Given the description of an element on the screen output the (x, y) to click on. 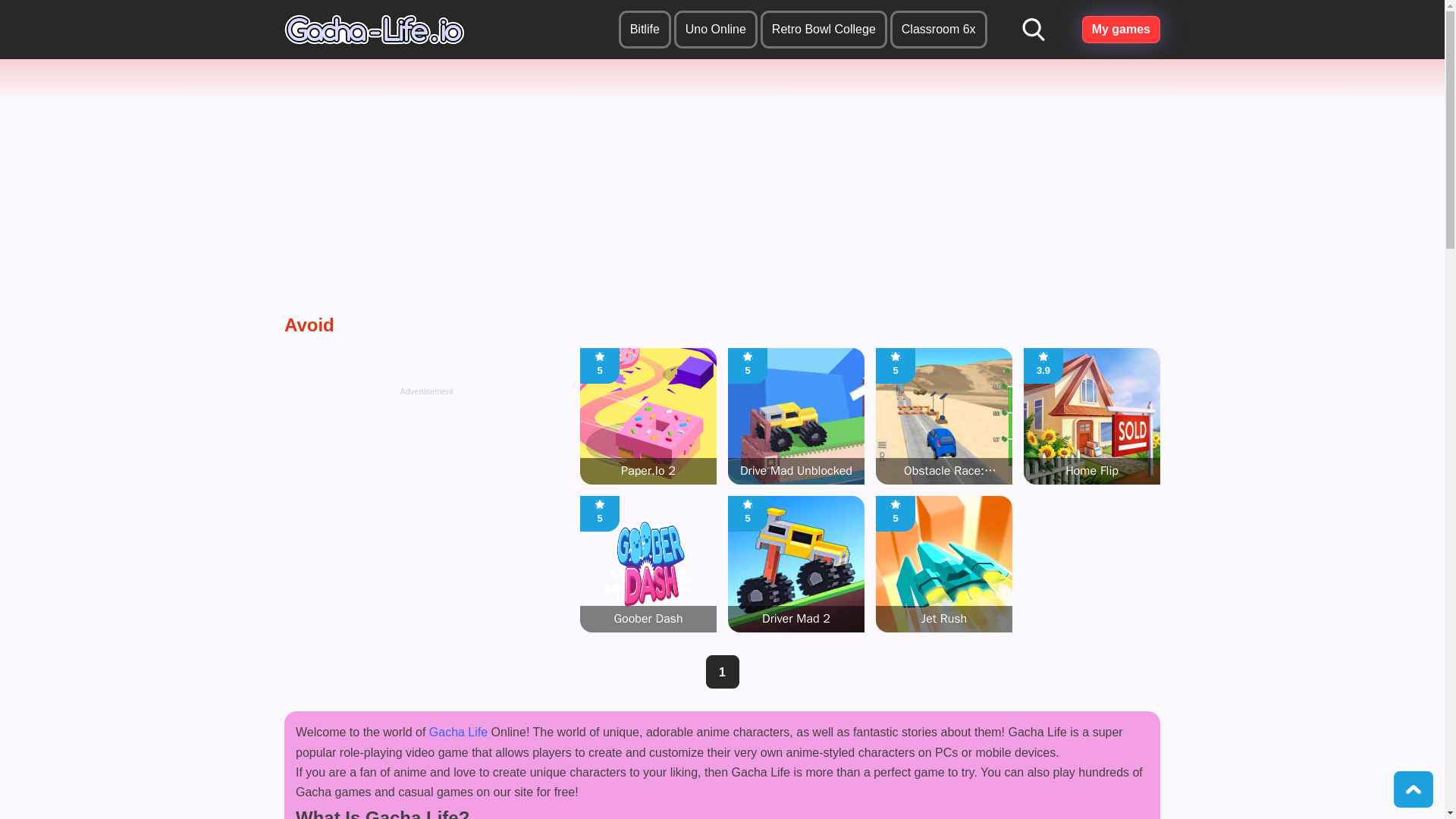
Gacha Life (373, 29)
Goober Dash (599, 504)
Uno Online (943, 564)
Jet Rush (716, 29)
Paper.io 2 (1091, 416)
Jet Rush (943, 564)
Gacha Life (599, 357)
Classroom 6x (895, 504)
Driver Mad 2 (796, 564)
Home Flip (458, 731)
Advertisement (938, 29)
